Given the description of an element on the screen output the (x, y) to click on. 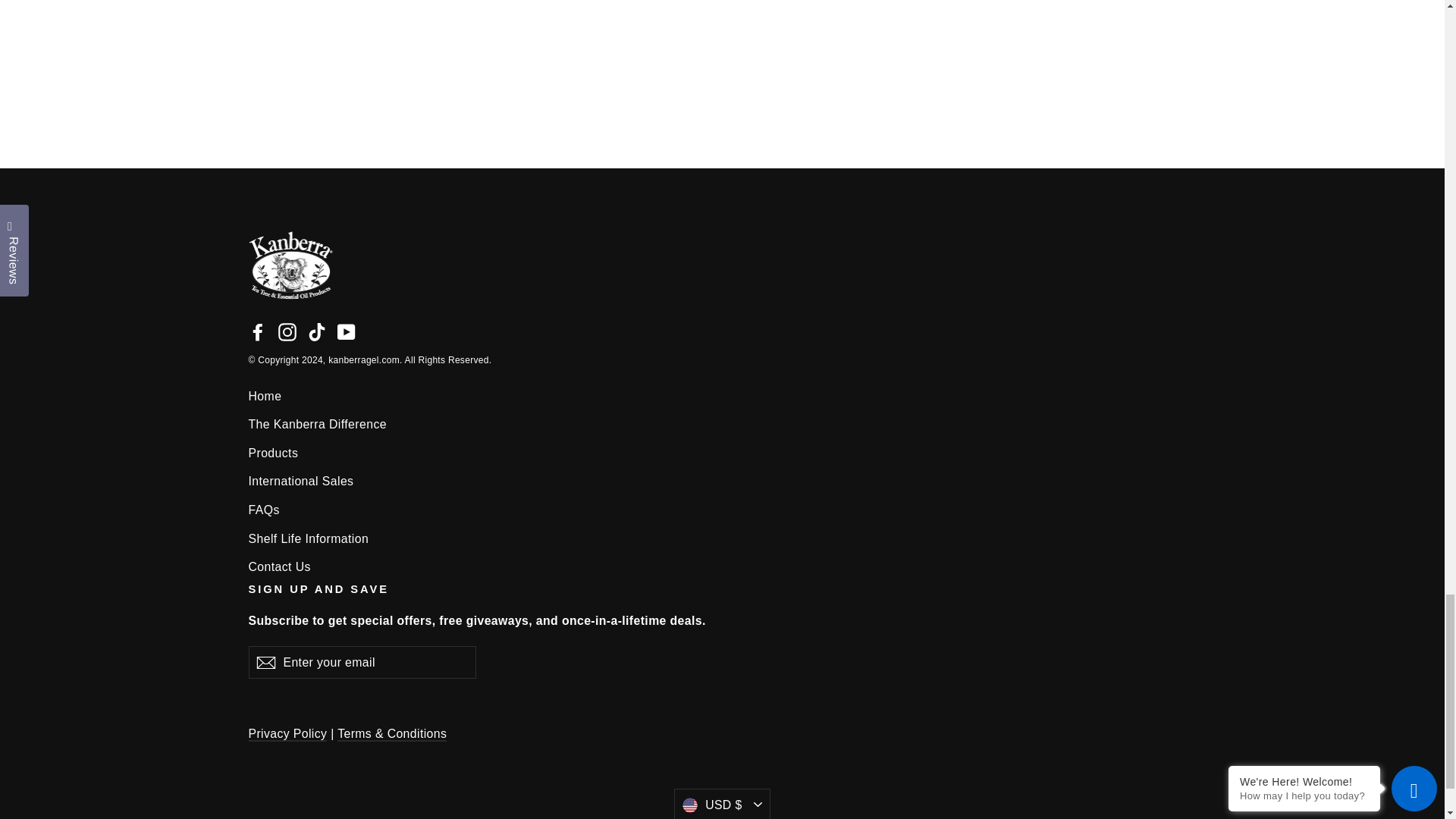
The Kanberra Difference (722, 423)
TikTok (316, 331)
Kanberra Gel on TikTok (316, 331)
YouTube (345, 331)
Instagram (286, 331)
Home (722, 396)
Kanberra Gel on Facebook (257, 331)
Products (722, 453)
International Sales (722, 480)
FAQs (722, 509)
Kanberra Gel on YouTube (345, 331)
Facebook (257, 331)
Privacy Policy (287, 734)
Kanberra Gel on Instagram (286, 331)
